Given the description of an element on the screen output the (x, y) to click on. 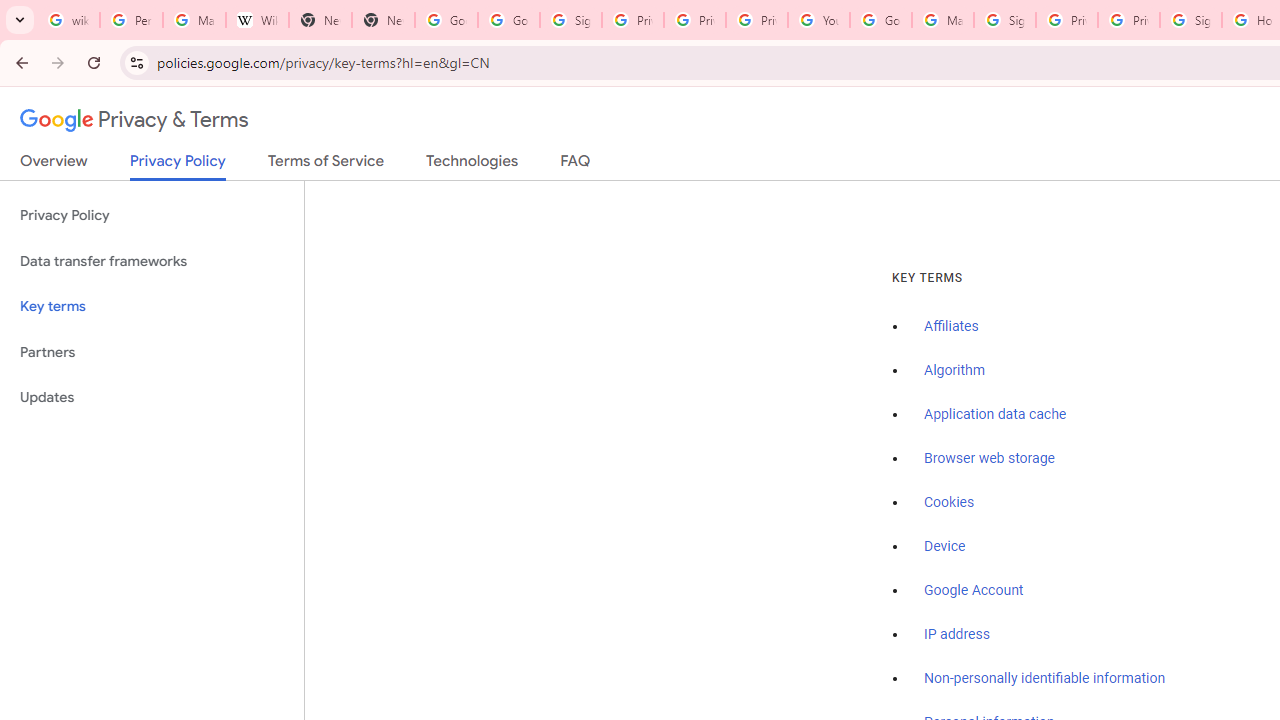
Personalization & Google Search results - Google Search Help (130, 20)
Google Drive: Sign-in (508, 20)
Non-personally identifiable information (1045, 679)
Wikipedia:Edit requests - Wikipedia (257, 20)
Algorithm (954, 371)
Application data cache (995, 415)
Google Account (974, 590)
